Given the description of an element on the screen output the (x, y) to click on. 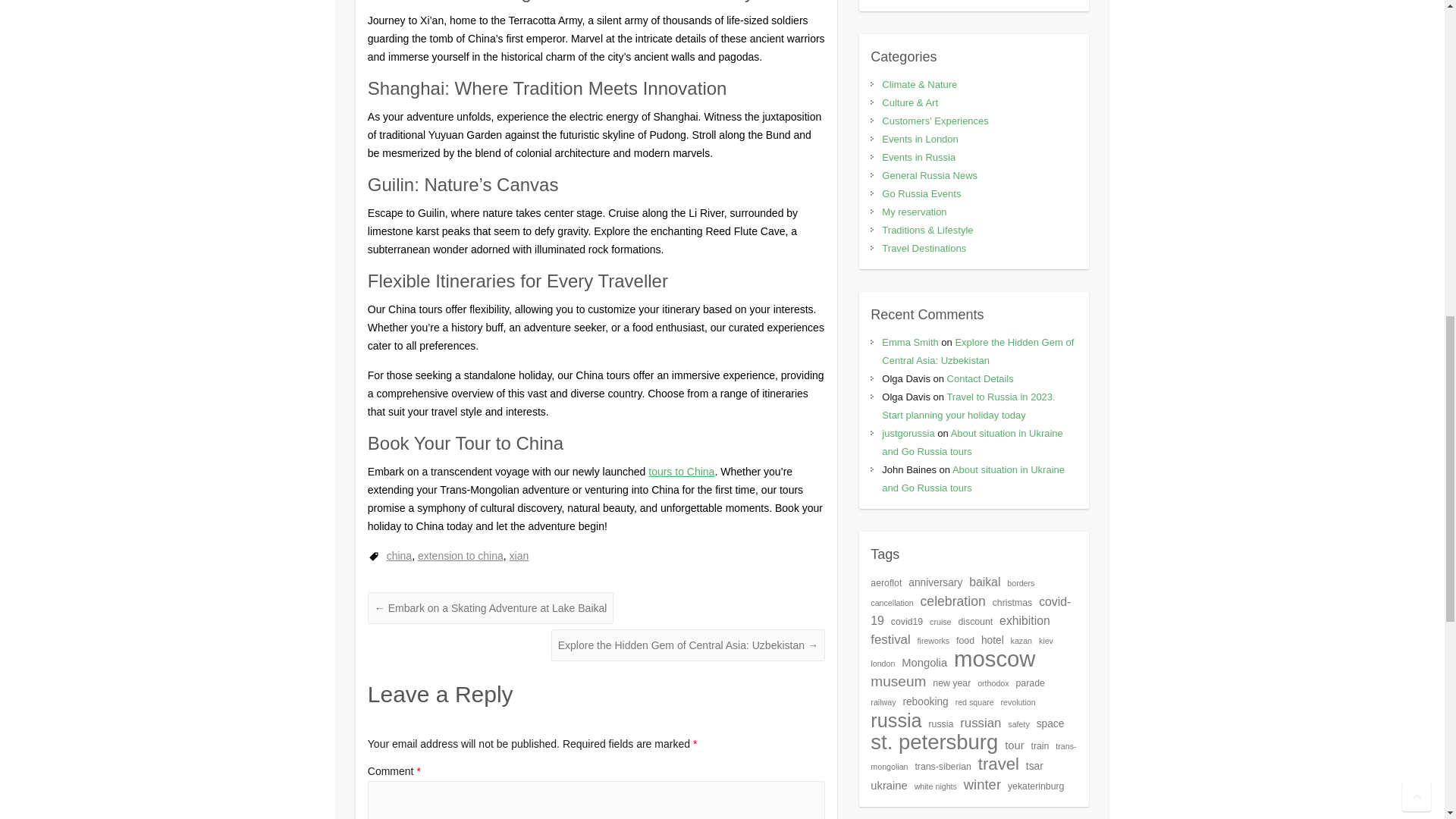
Events in Russia (918, 156)
Customers' Experiences (935, 120)
tours to China (680, 471)
General Russia News (929, 174)
Events in London (920, 138)
china (399, 555)
xian (519, 555)
extension to china (460, 555)
